Given the description of an element on the screen output the (x, y) to click on. 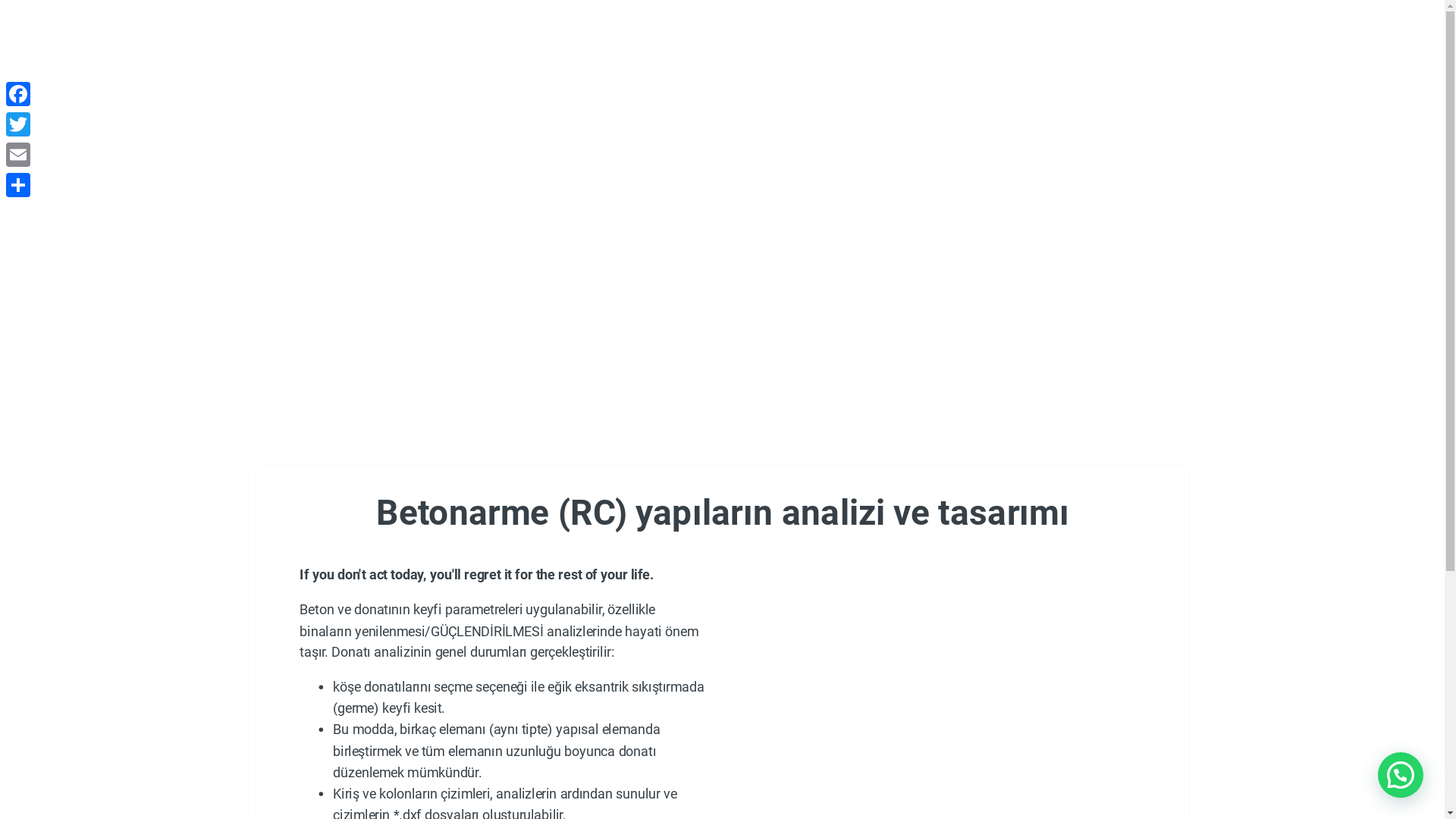
Share Element type: text (18, 184)
REFERANSLAR Element type: text (874, 62)
BLOG Element type: text (948, 62)
Twitter Element type: text (18, 124)
YAZILIM Element type: text (363, 62)
+90 532 376 05 30 Element type: text (381, 15)
Facebook Element type: text (18, 93)
MARKALAR Element type: text (734, 61)
Email Element type: text (18, 154)
